Given the description of an element on the screen output the (x, y) to click on. 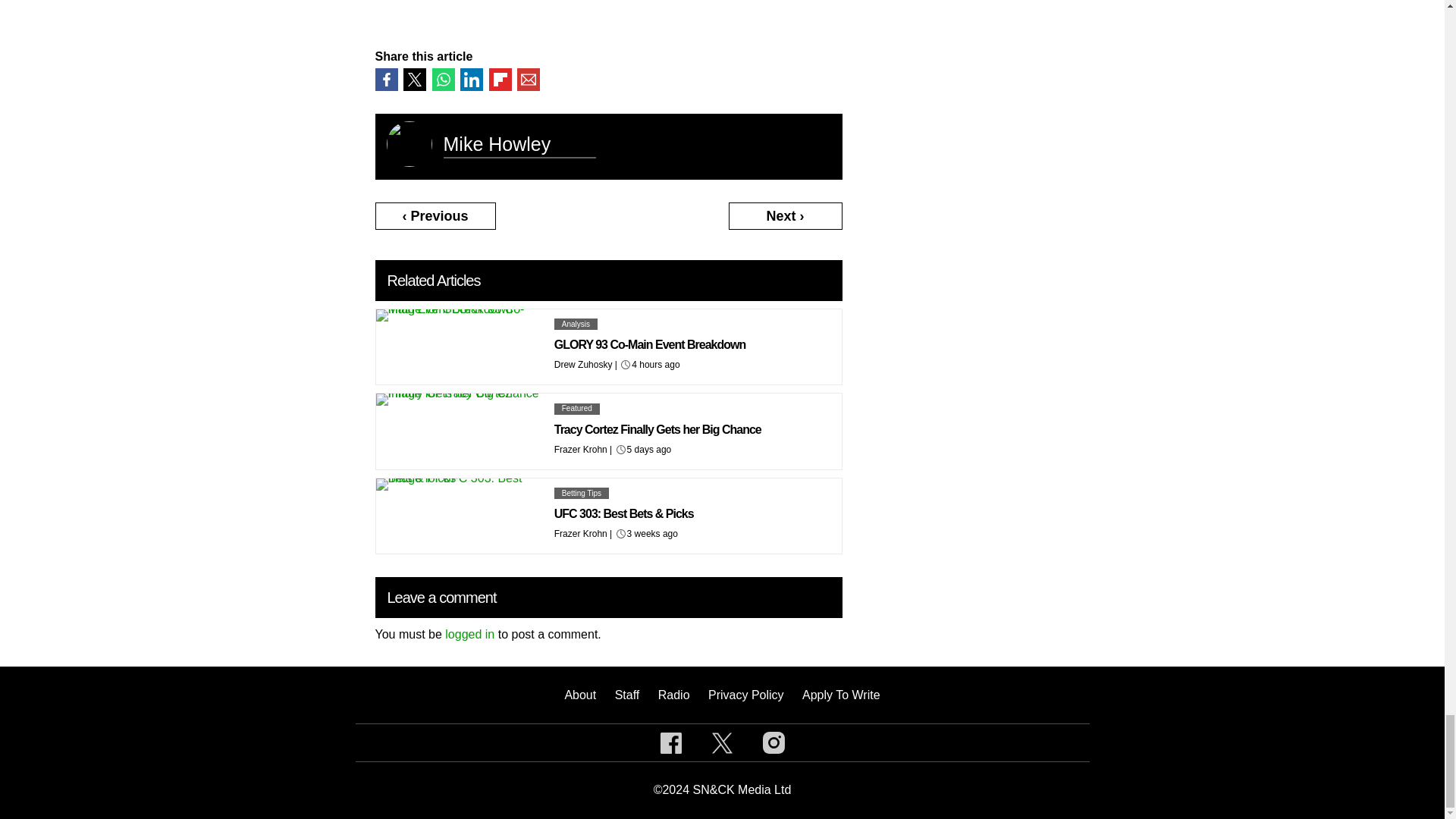
3 Bouts To Watch At ONE Friday Fights 68 (449, 6)
